Given the description of an element on the screen output the (x, y) to click on. 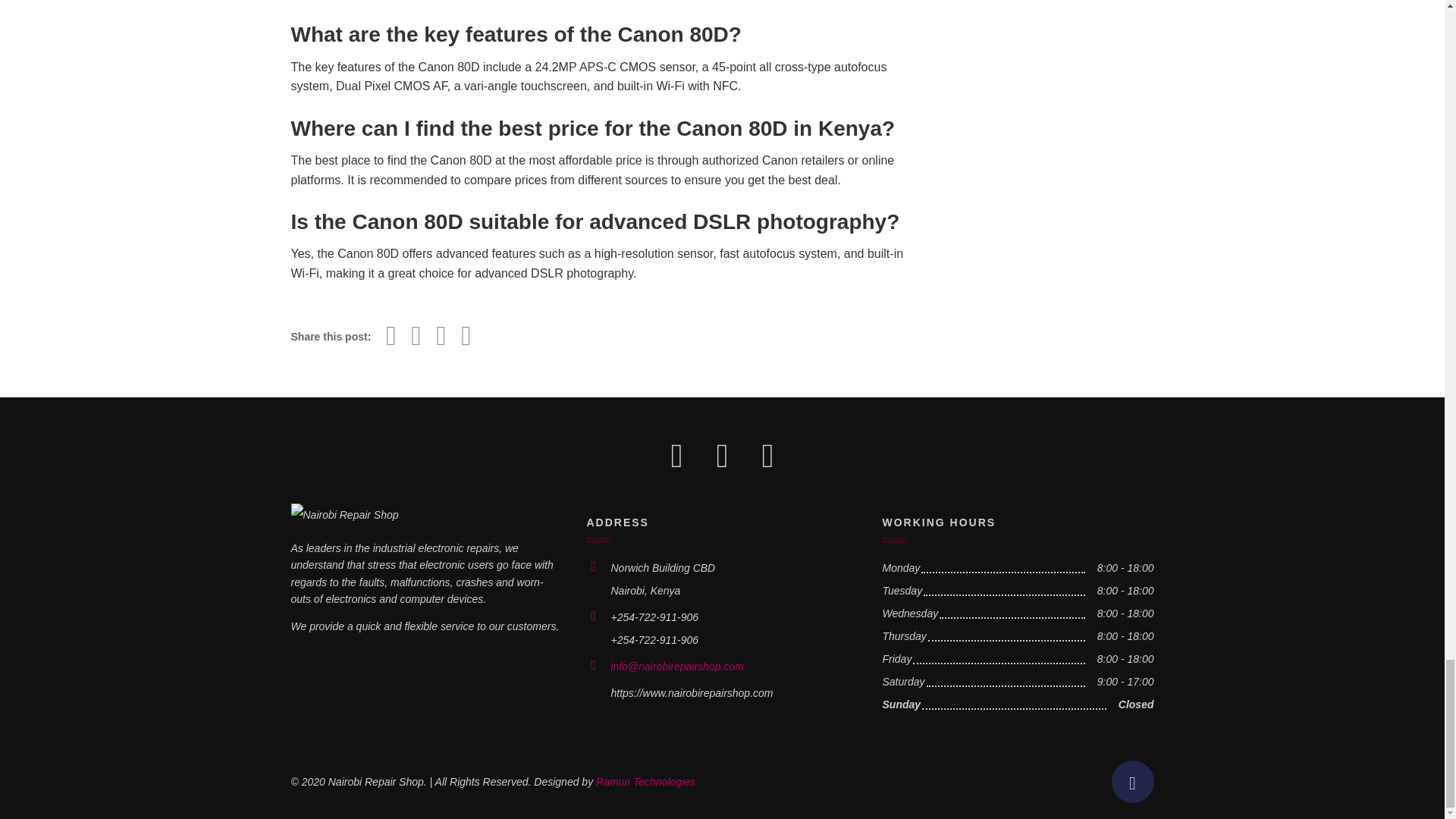
Scroll to top (1133, 781)
